Given the description of an element on the screen output the (x, y) to click on. 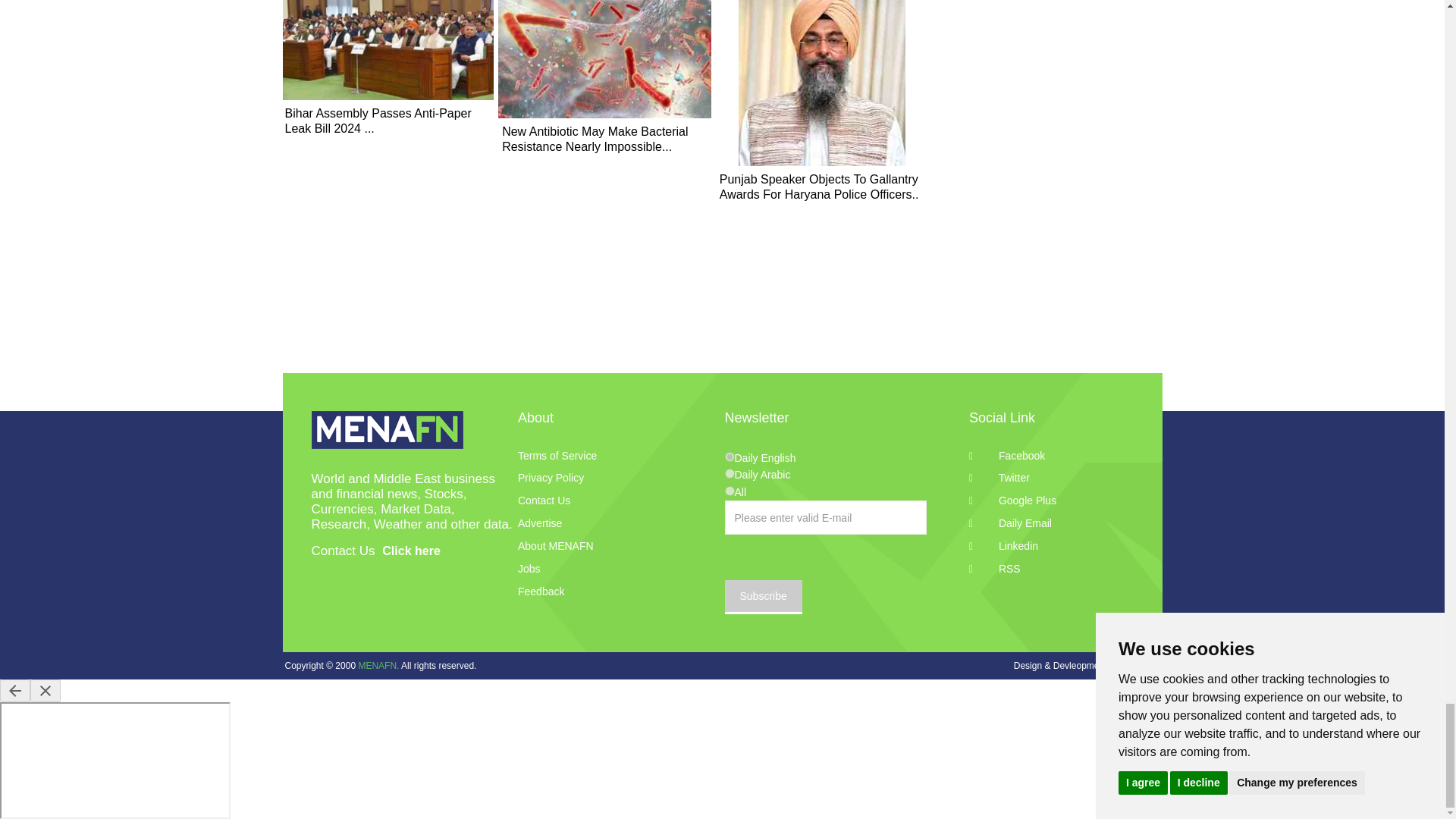
Subscribe (763, 596)
Advertisement (1047, 13)
